Given the description of an element on the screen output the (x, y) to click on. 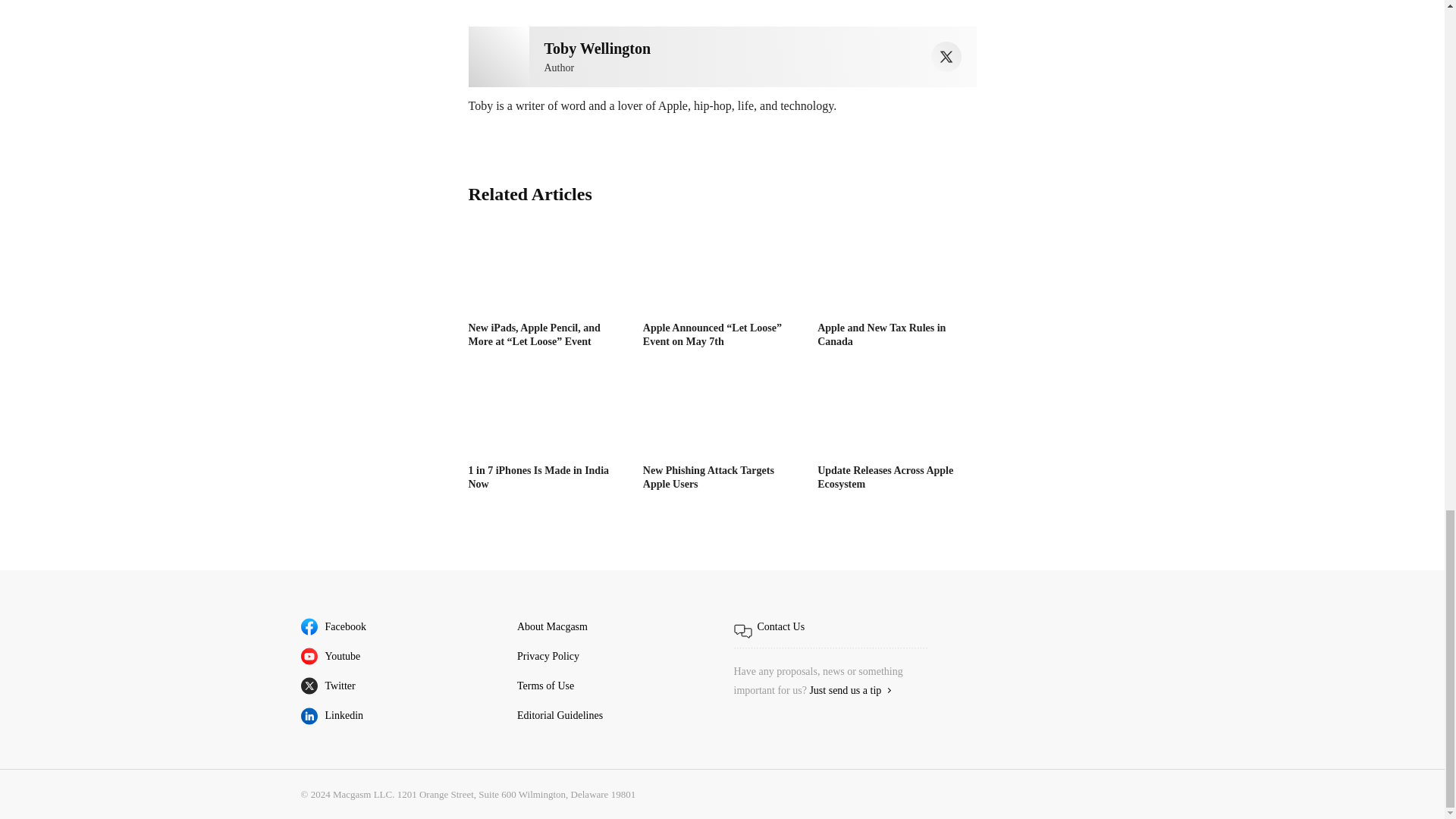
Toby Wellington (597, 48)
Toby Wellington (498, 56)
Twitter (945, 56)
